Given the description of an element on the screen output the (x, y) to click on. 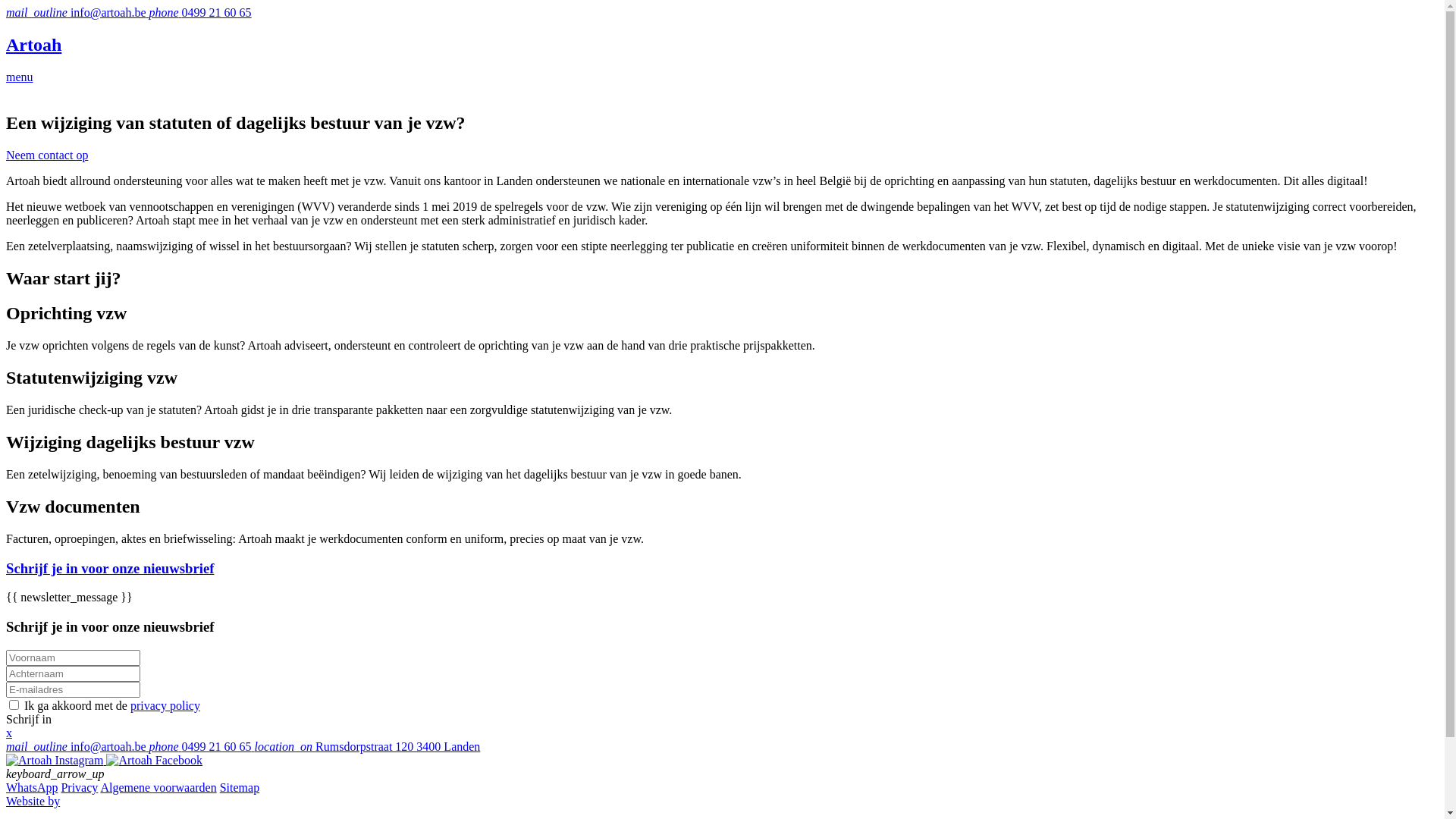
Artoah Facebook Element type: hover (154, 759)
Neem contact op Element type: text (46, 154)
Artoah Instagram Element type: hover (56, 759)
mail_outline info@artoah.be Element type: text (77, 12)
Schrijf je in voor onze nieuwsbrief Element type: text (722, 567)
Sitemap Element type: text (239, 787)
privacy policy Element type: text (165, 705)
WhatsApp Element type: text (31, 787)
Website by Element type: text (32, 800)
menu Element type: text (19, 76)
x Element type: text (9, 732)
Artoah Element type: text (722, 44)
Algemene voorwaarden Element type: text (158, 787)
phone 0499 21 60 65 Element type: text (201, 746)
mail_outline info@artoah.be Element type: text (77, 746)
phone 0499 21 60 65 Element type: text (199, 12)
Privacy Element type: text (78, 787)
location_on Rumsdorpstraat 120 3400 Landen Element type: text (367, 746)
